Given the description of an element on the screen output the (x, y) to click on. 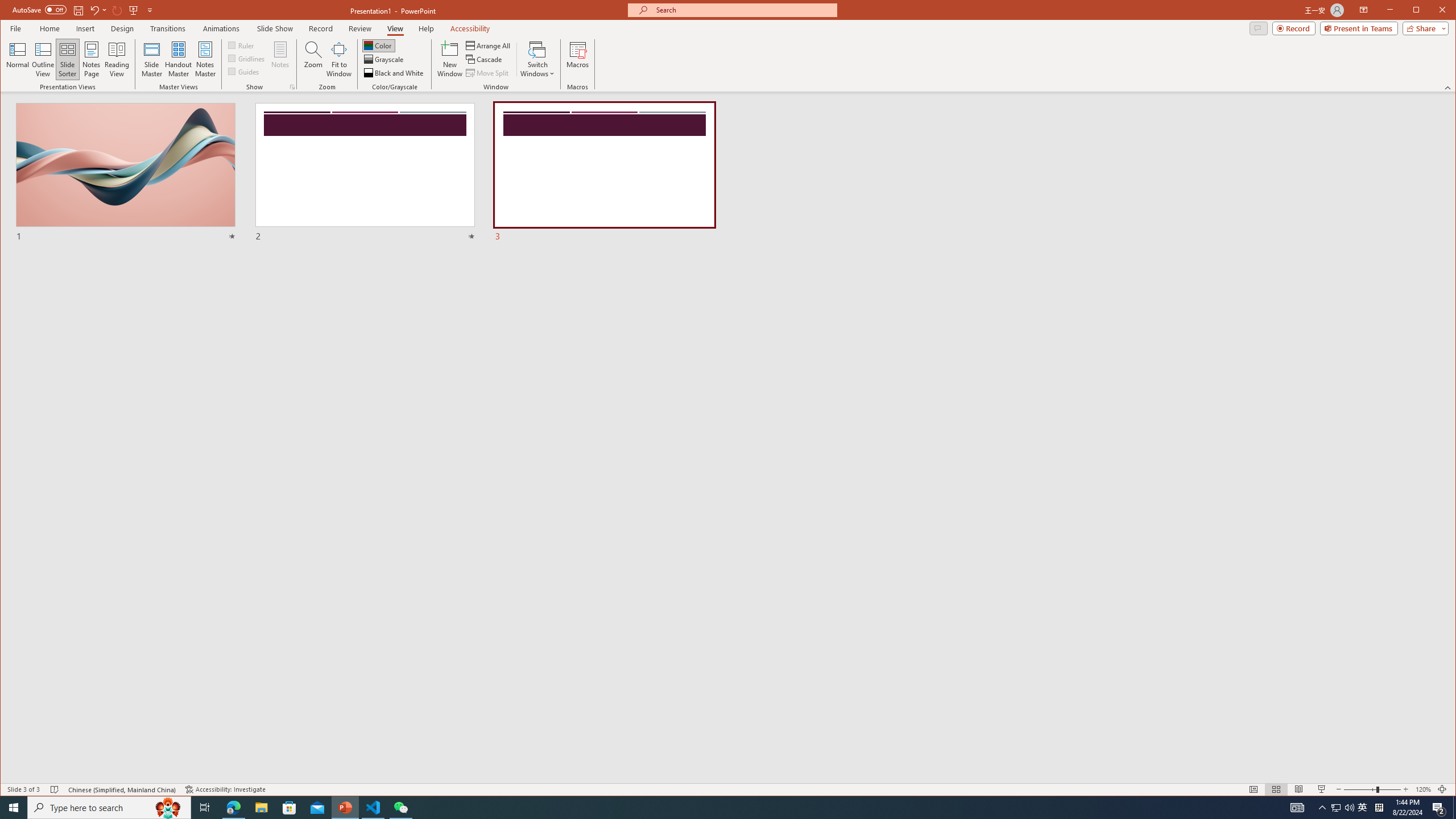
Outline View (42, 59)
Ruler (241, 44)
Switch Windows (537, 59)
Zoom... (312, 59)
Notes Master (204, 59)
Cascade (484, 59)
Color (378, 45)
